Given the description of an element on the screen output the (x, y) to click on. 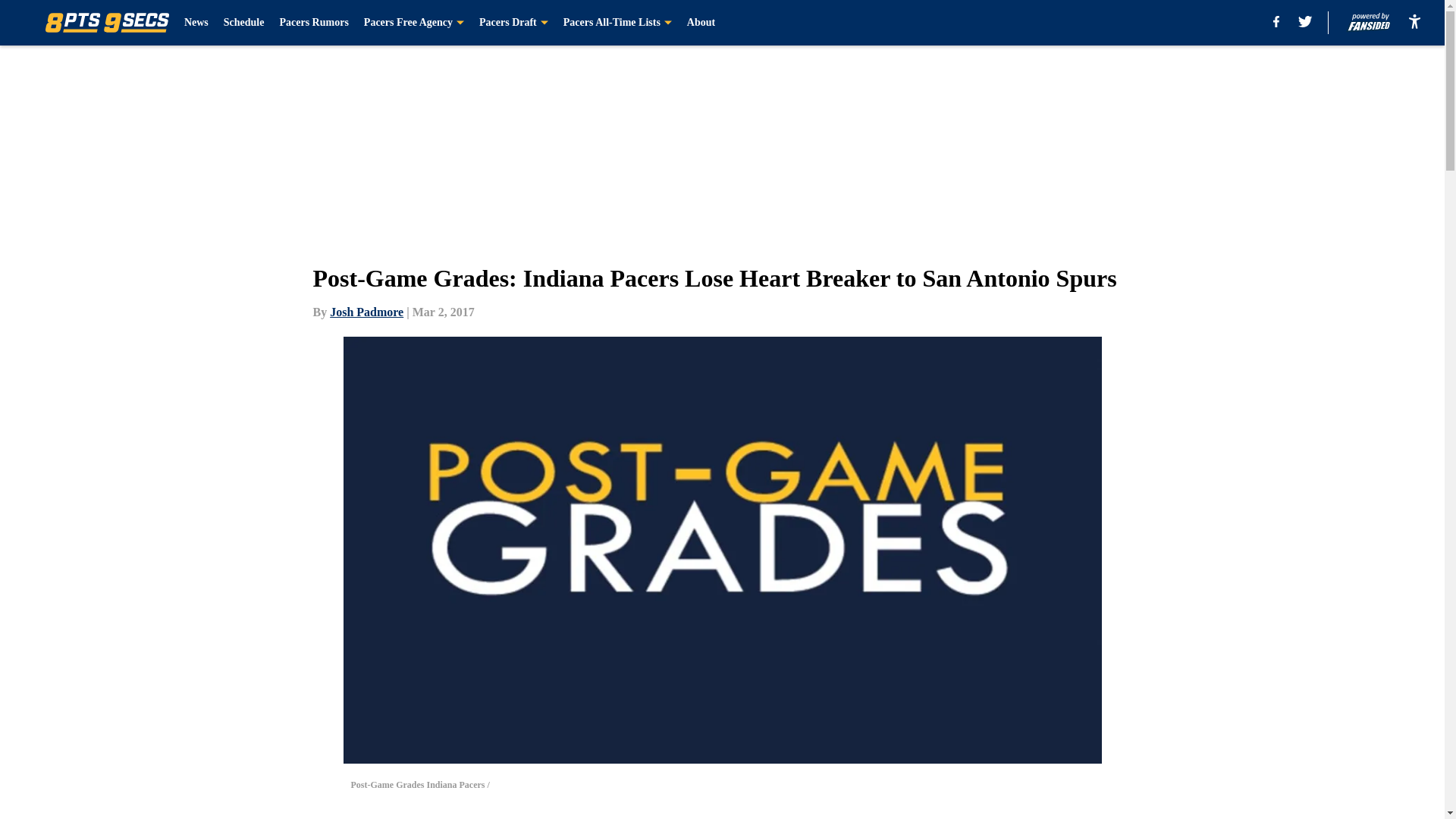
Pacers Rumors (313, 22)
Schedule (244, 22)
About (700, 22)
Josh Padmore (366, 311)
News (196, 22)
